Given the description of an element on the screen output the (x, y) to click on. 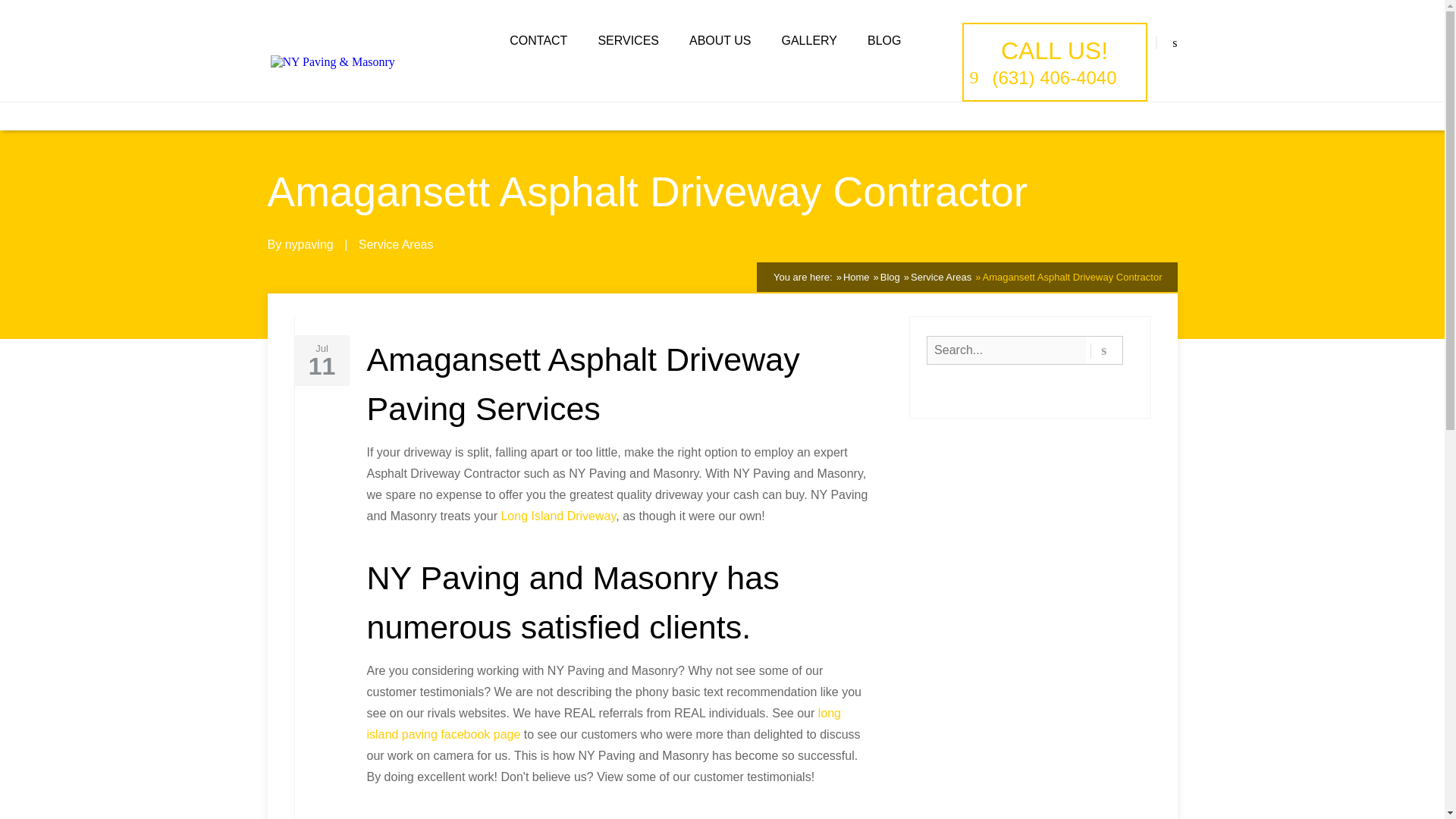
ABOUT US (719, 40)
SERVICES (627, 40)
CONTACT (538, 40)
